Given the description of an element on the screen output the (x, y) to click on. 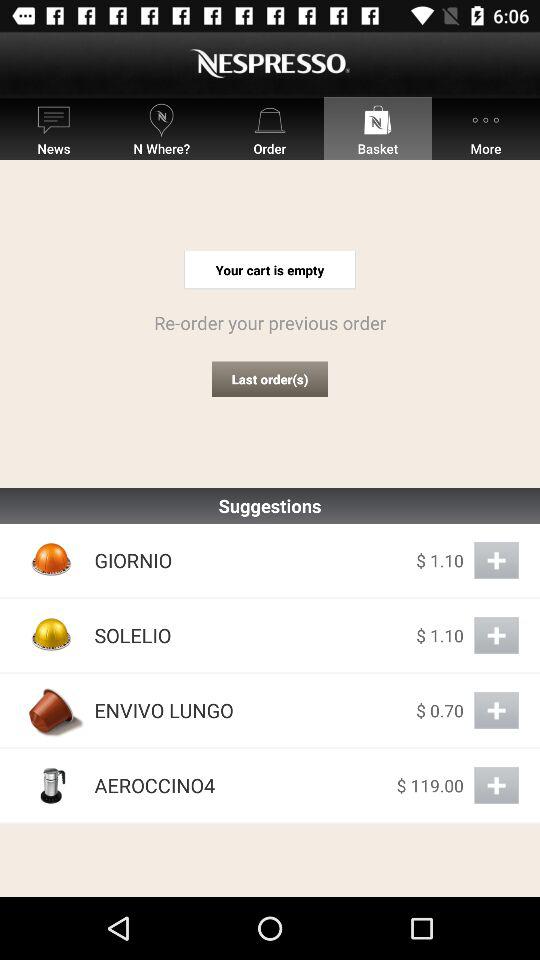
add envivo lungo to basket (496, 710)
